Given the description of an element on the screen output the (x, y) to click on. 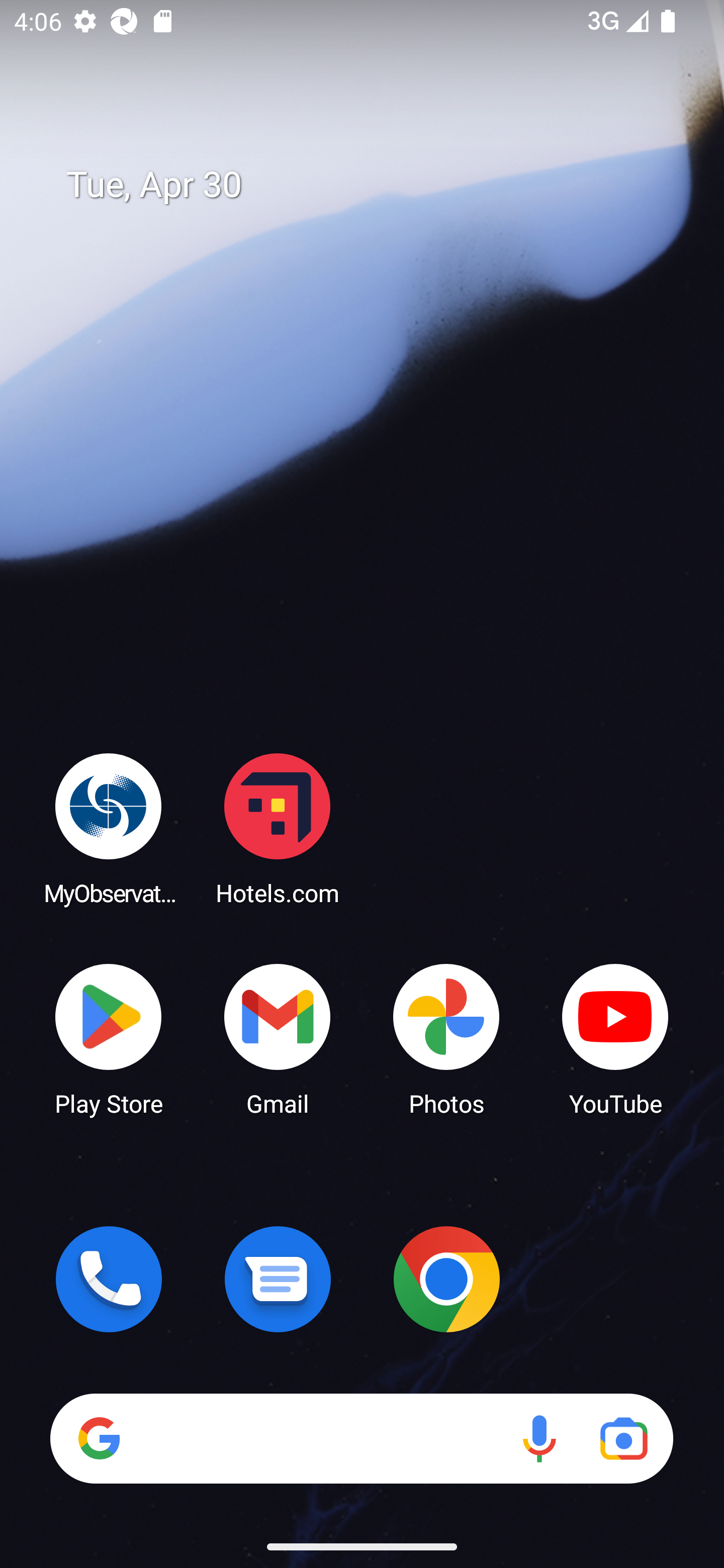
Tue, Apr 30 (375, 184)
MyObservatory (108, 828)
Hotels.com (277, 828)
Play Store (108, 1038)
Gmail (277, 1038)
Photos (445, 1038)
YouTube (615, 1038)
Phone (108, 1279)
Messages (277, 1279)
Chrome (446, 1279)
Search Voice search Google Lens (361, 1438)
Voice search (539, 1438)
Google Lens (623, 1438)
